Given the description of an element on the screen output the (x, y) to click on. 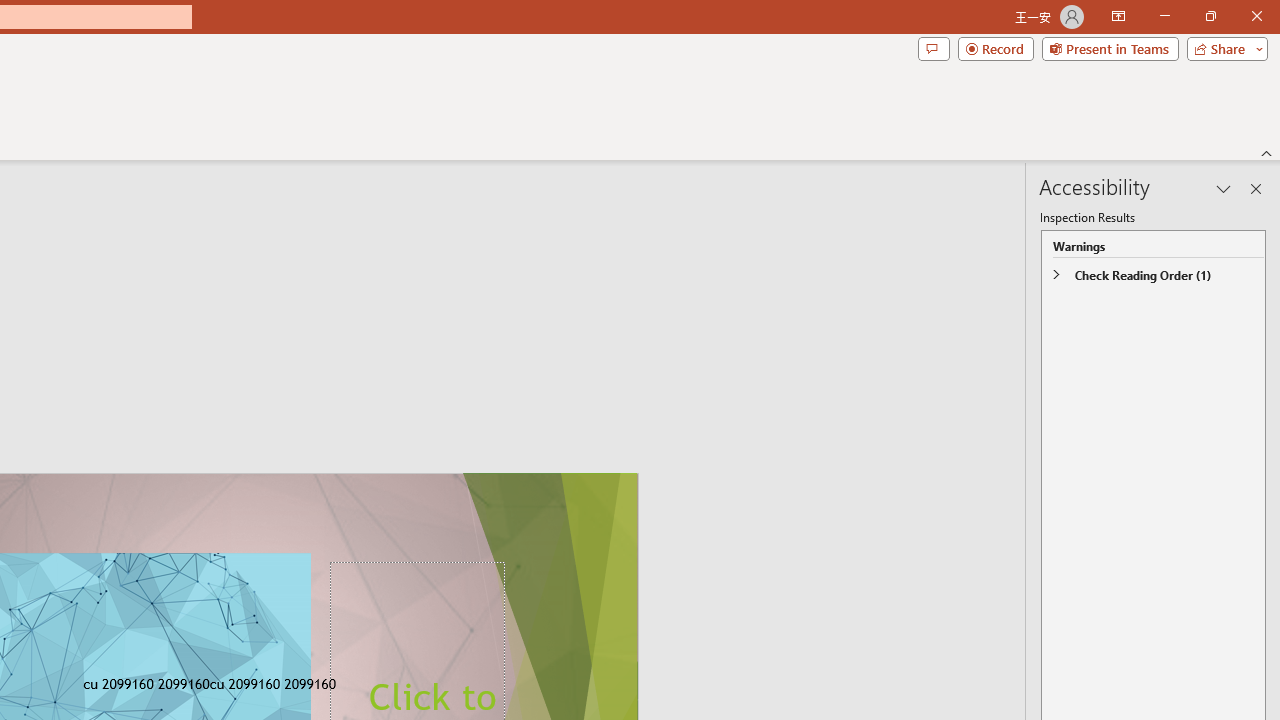
2304.09121v3.pdf (962, 47)
2404.05719v1.pdf (1192, 446)
Symbol-llm-v2.pdf (962, 180)
2311.03658v2.pdf (846, 446)
2403.02502v1.pdf (1077, 180)
2312.03032v2.pdf (962, 446)
2401.17399v1.pdf (1077, 47)
(CVPR24)Matching Anything by Segmenting Anything.pdf (962, 324)
2406.12373v2.pdf (1077, 446)
symbol_LLM.pdf (846, 180)
2301.12597v3.pdf (1192, 313)
